Given the description of an element on the screen output the (x, y) to click on. 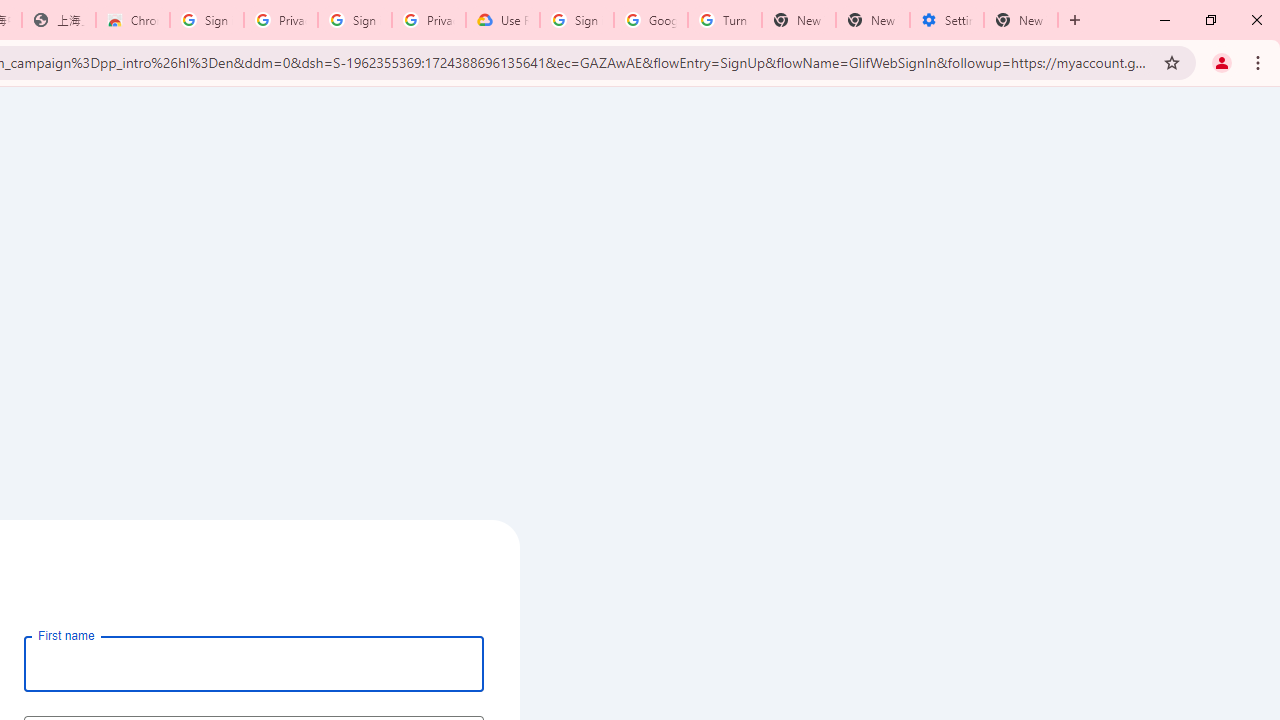
Restore (1210, 20)
Minimize (1165, 20)
Sign in - Google Accounts (577, 20)
